Given the description of an element on the screen output the (x, y) to click on. 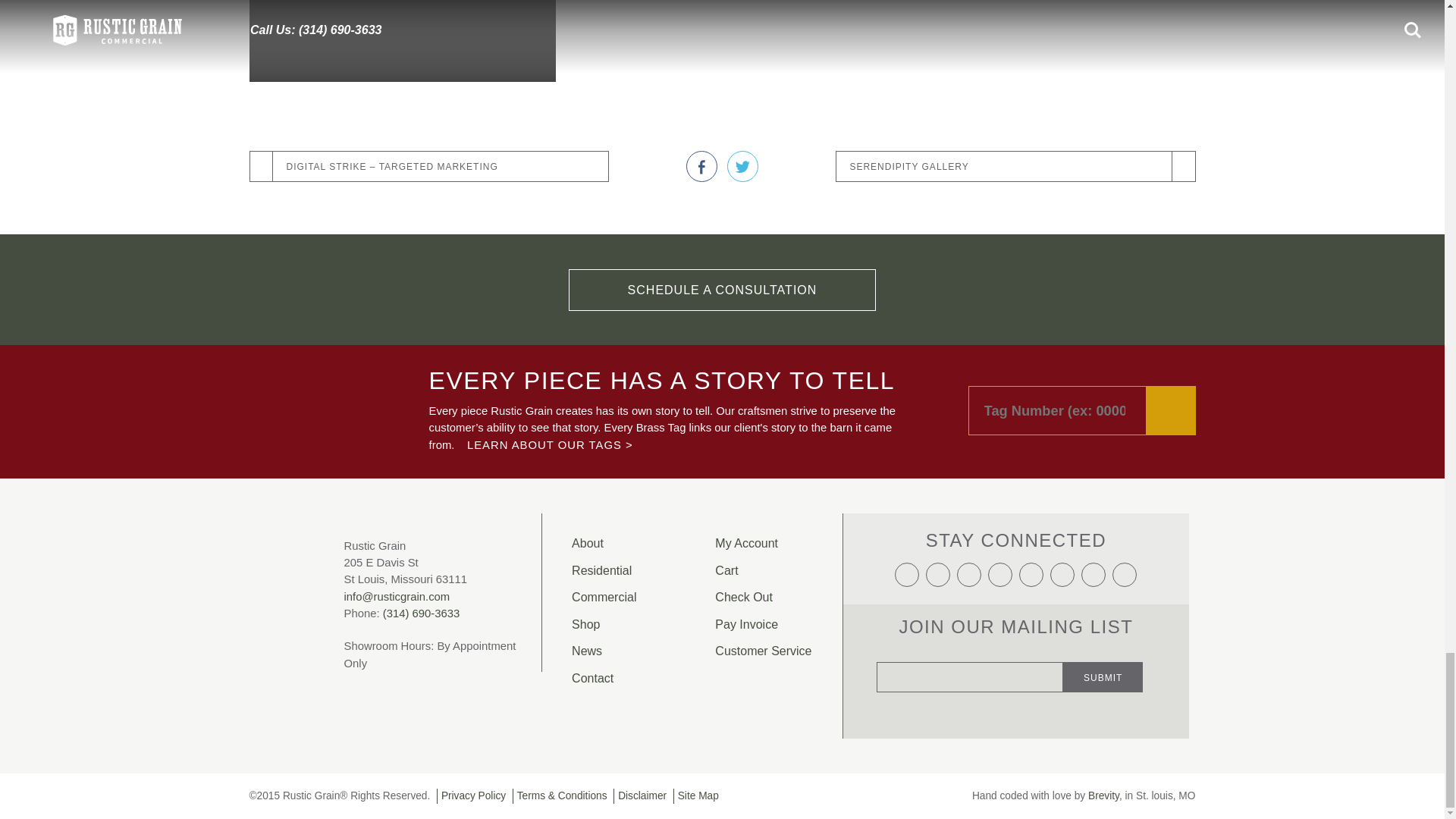
Search (1170, 409)
Submit (1102, 676)
Search (1170, 409)
SERENDIPITY GALLERY (1014, 166)
Tag Search (1081, 409)
